Given the description of an element on the screen output the (x, y) to click on. 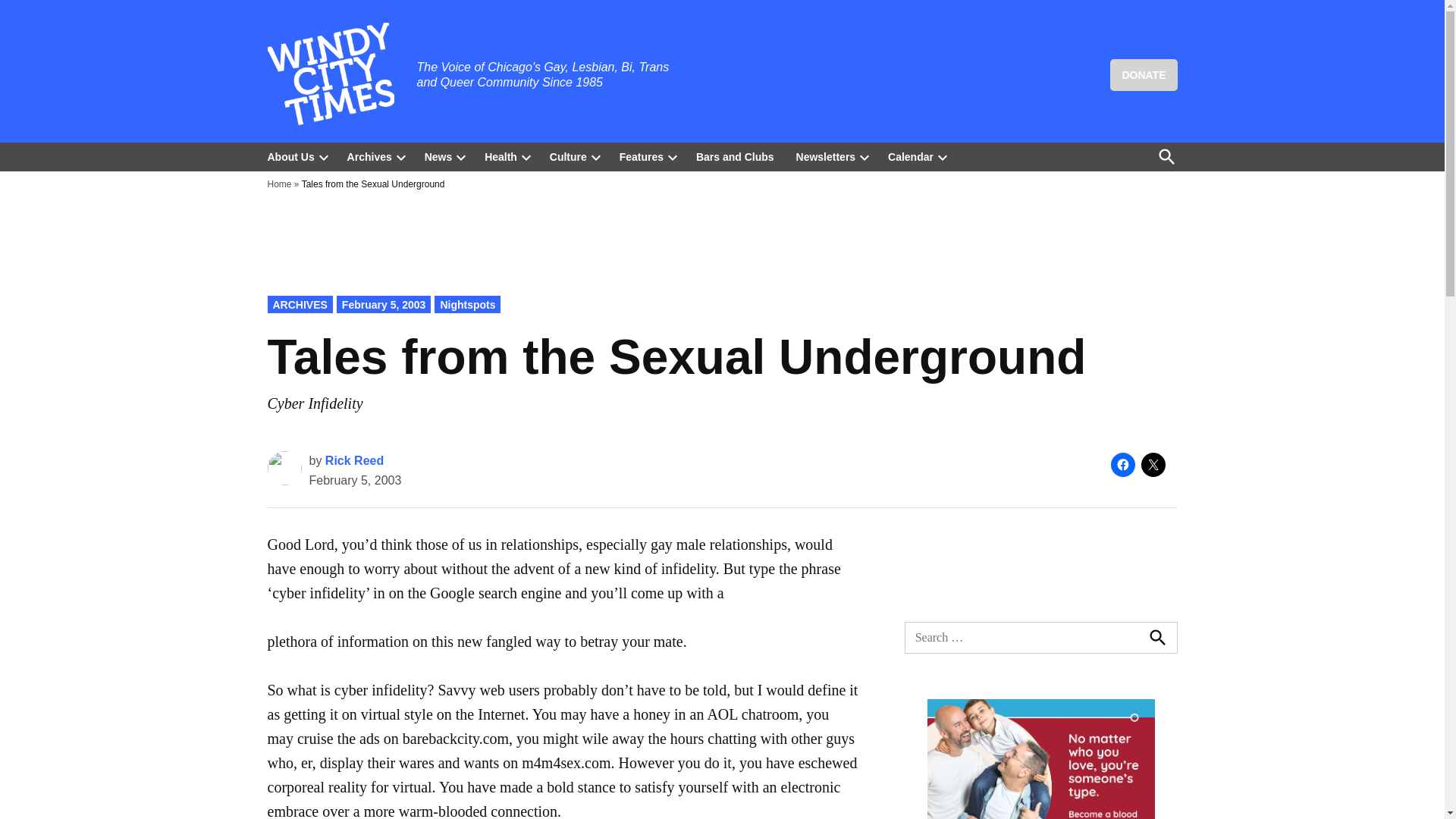
Click to share on Facebook (1121, 464)
Click to share on X (1152, 464)
